Given the description of an element on the screen output the (x, y) to click on. 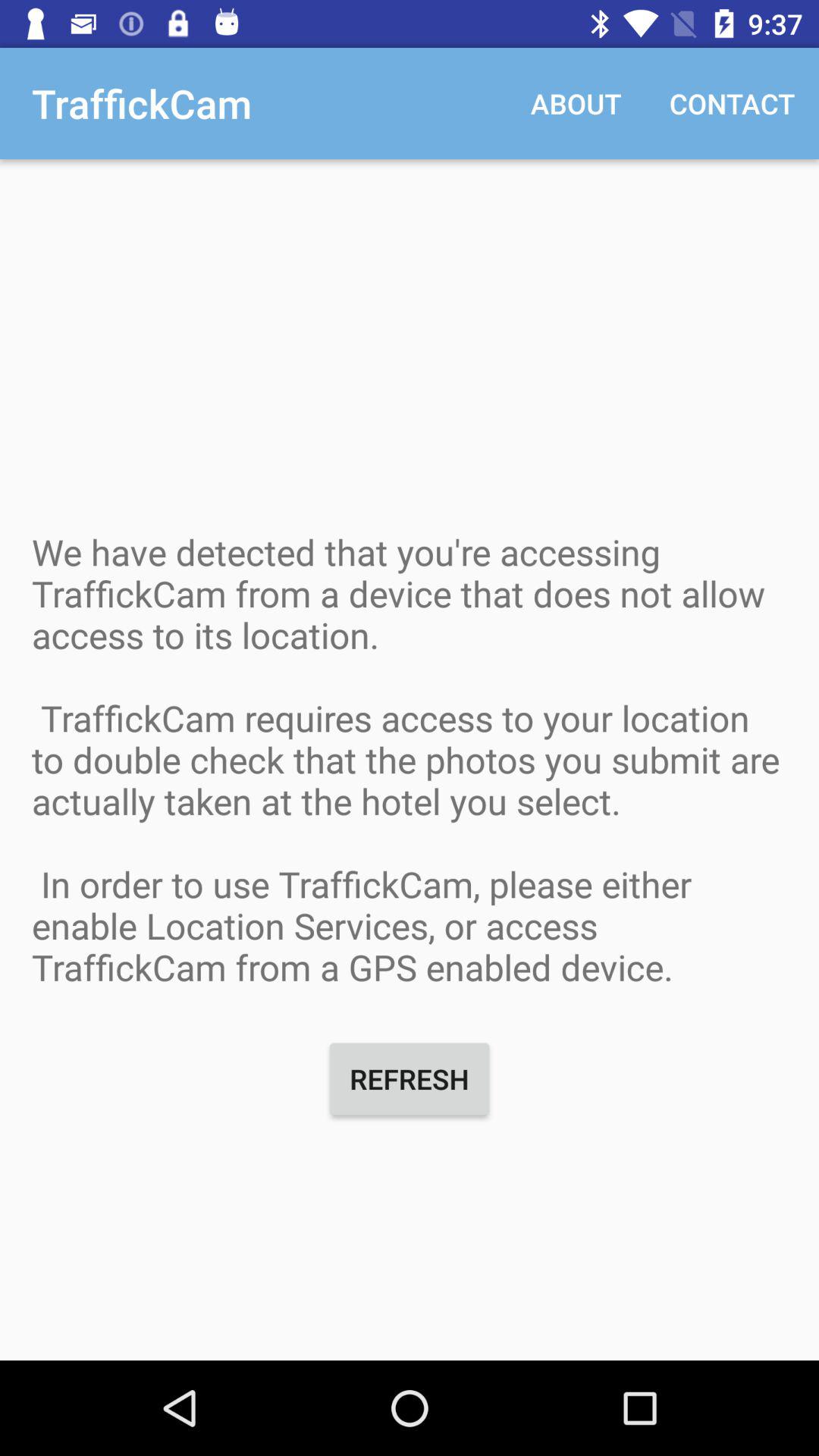
turn on the app next to traffickcam icon (575, 103)
